Given the description of an element on the screen output the (x, y) to click on. 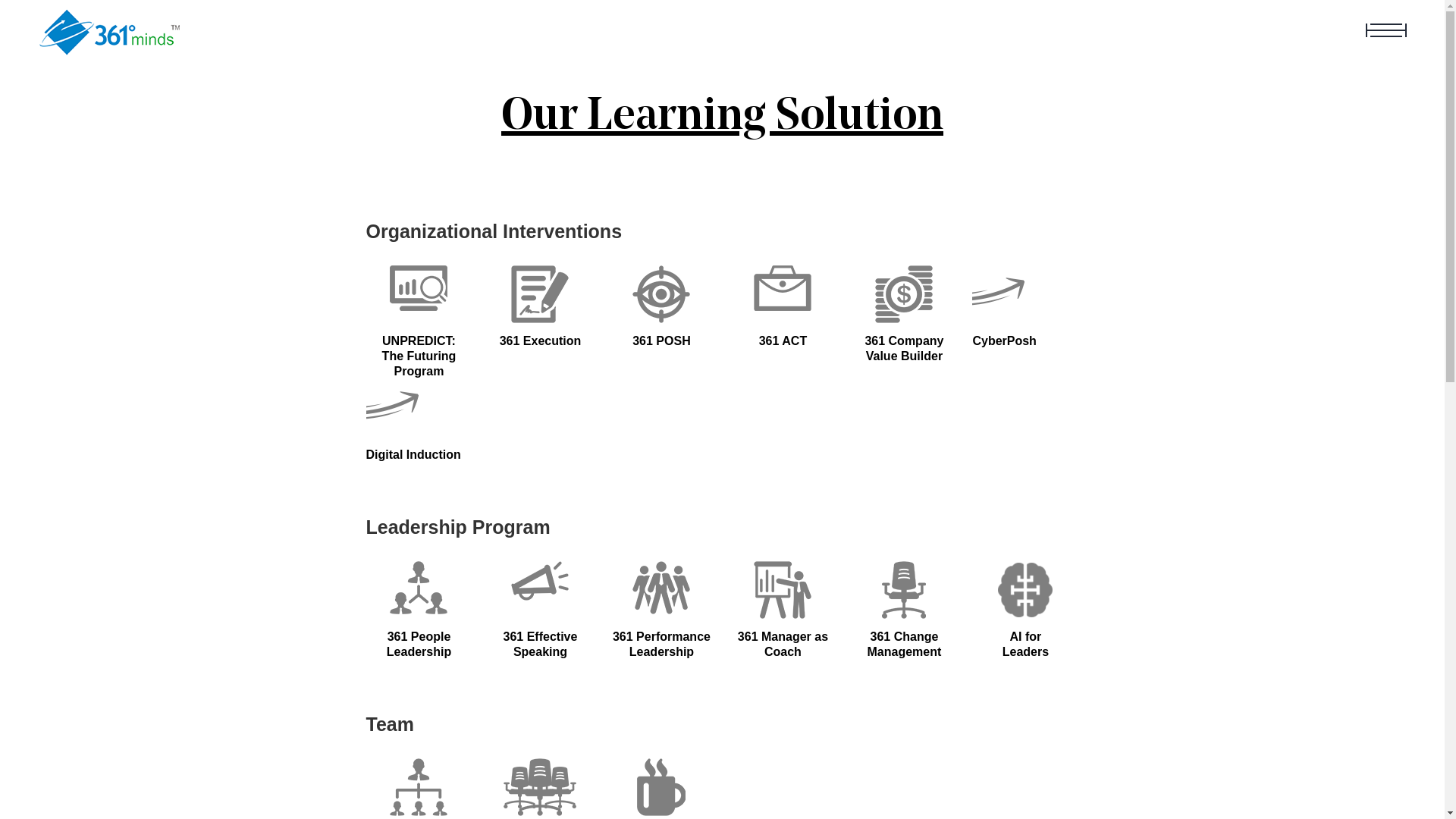
361 Execution Element type: text (539, 340)
CyberPosh Element type: text (1025, 340)
361 Performance Leadership Element type: text (661, 644)
361 ACT Element type: text (782, 340)
361 Manager as Coach Element type: text (782, 644)
Digital Induction Element type: text (418, 454)
361 Change Management Element type: text (903, 644)
361 Company Value Builder Element type: text (903, 348)
361 Effective Speaking Element type: text (539, 644)
UNPREDICT:
The Futuring Program Element type: text (418, 356)
361 POSH Element type: text (661, 340)
AI for
Leaders Element type: text (1025, 644)
361 People Leadership Element type: text (418, 644)
